Given the description of an element on the screen output the (x, y) to click on. 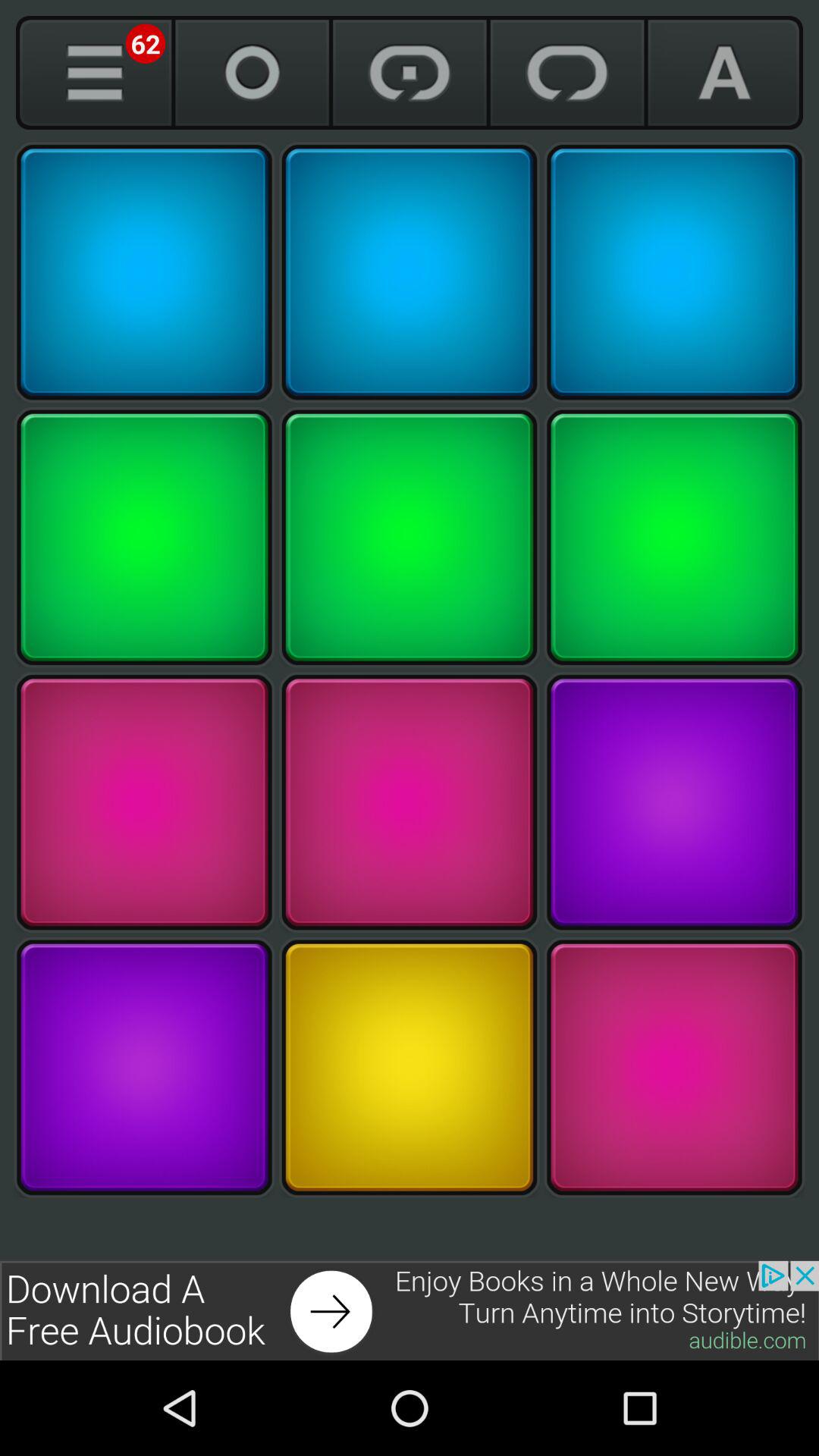
select light blue (409, 272)
